Given the description of an element on the screen output the (x, y) to click on. 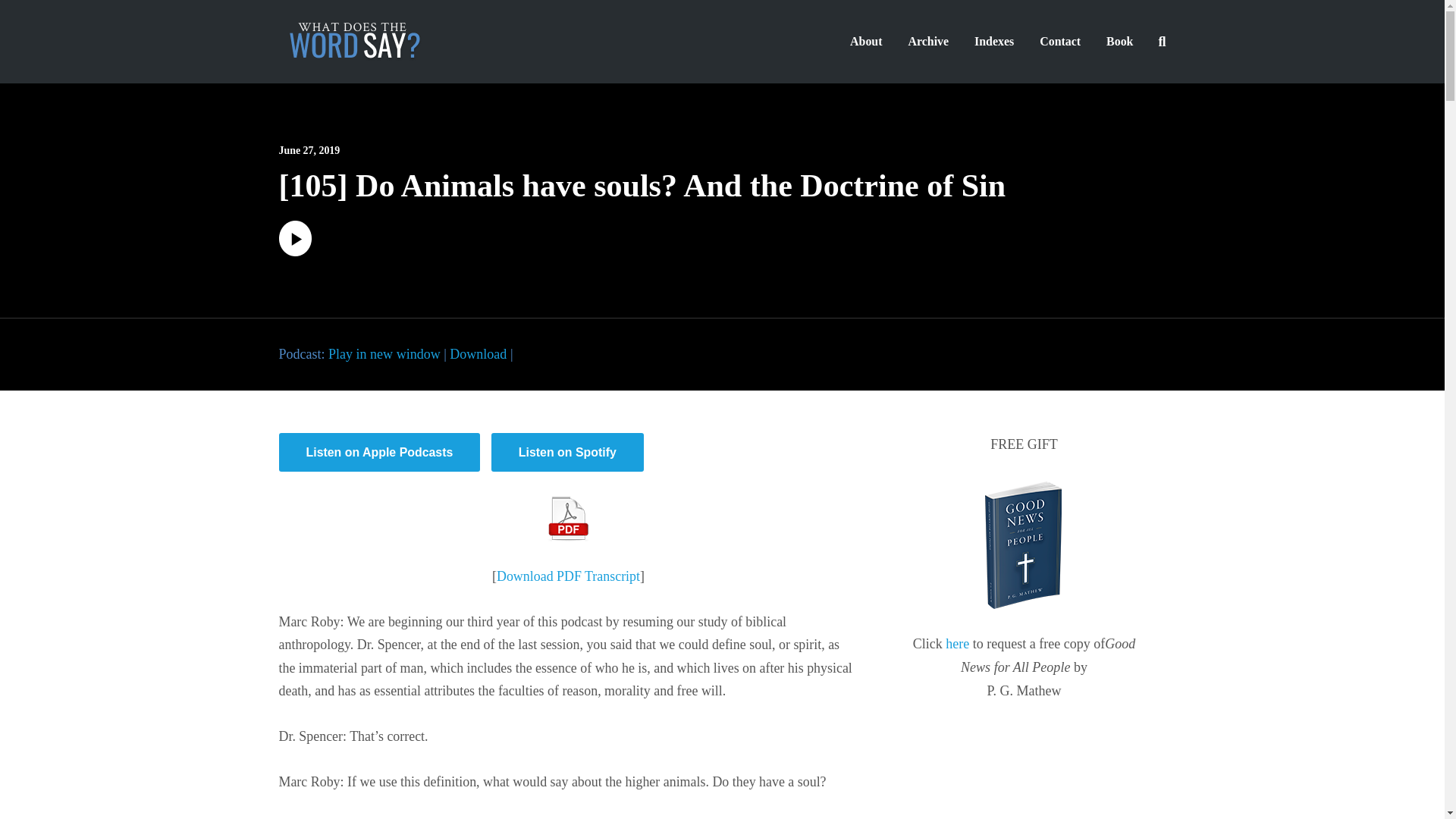
Listen on Spotify (567, 451)
Play in new window (385, 353)
Listen on Apple Podcasts (379, 451)
Download (477, 353)
Download PDF Transcript (568, 575)
Play (295, 251)
Play in new window (385, 353)
Download (477, 353)
Play (295, 238)
